Given the description of an element on the screen output the (x, y) to click on. 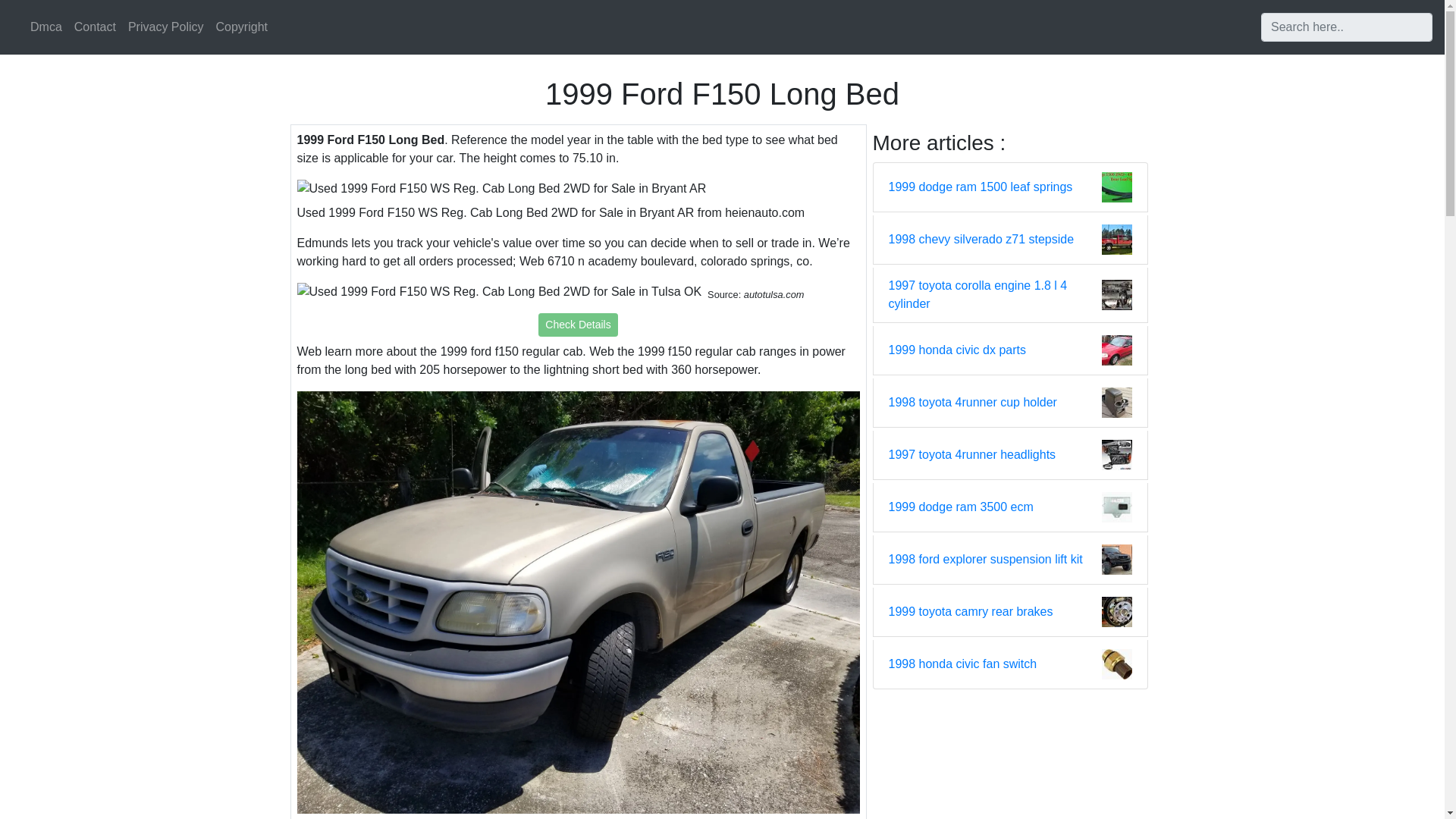
1998 chevy silverado z71 stepside (981, 239)
1998 toyota 4runner cup holder (972, 402)
Privacy Policy (165, 27)
Contact (95, 27)
1997 toyota corolla engine 1.8 l 4 cylinder (995, 294)
Check Details (577, 324)
1999 dodge ram 3500 ecm (960, 506)
1999 honda civic dx parts (957, 350)
1998 honda civic fan switch (962, 664)
1997 toyota 4runner headlights (972, 454)
